Given the description of an element on the screen output the (x, y) to click on. 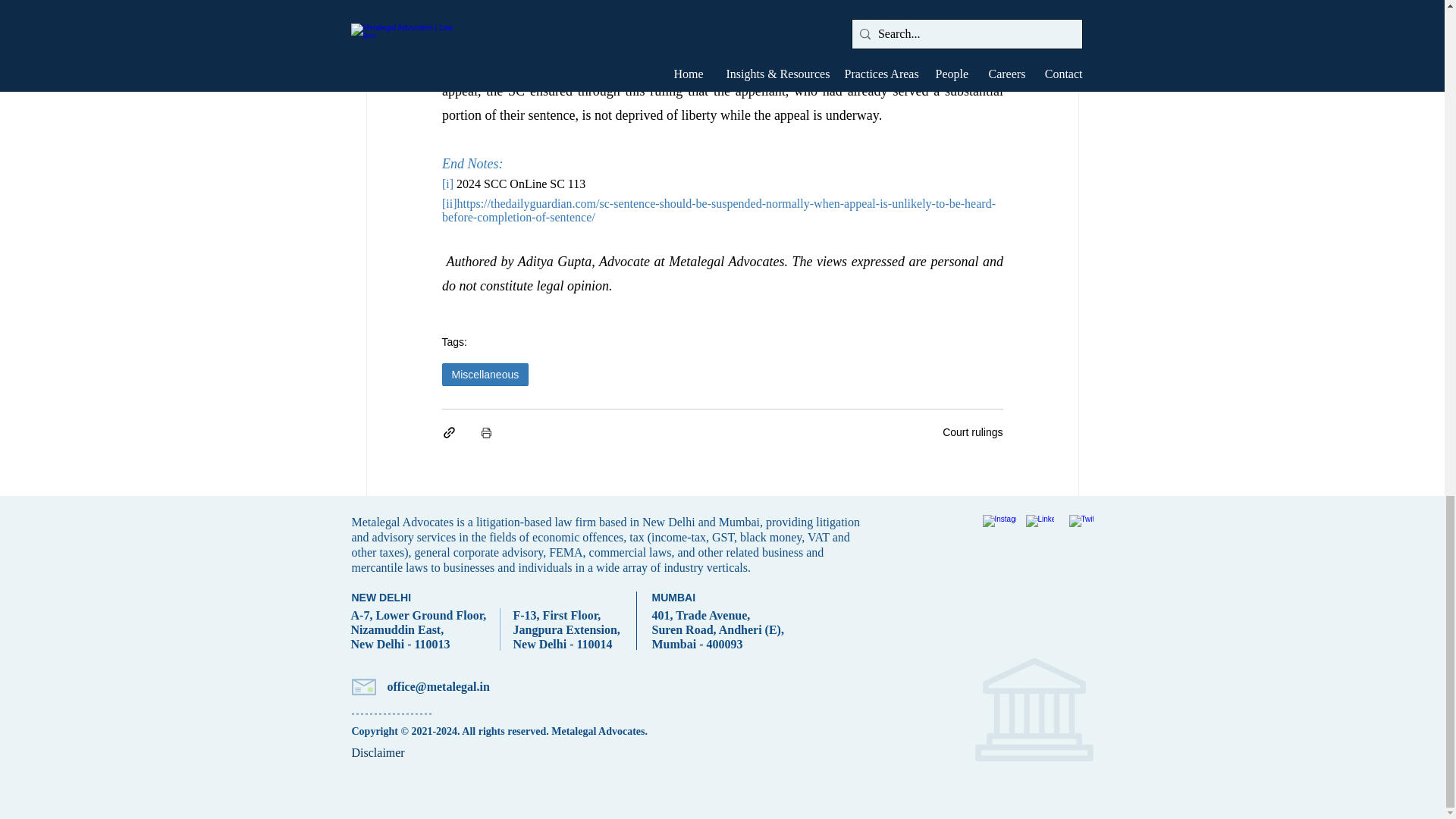
Disclaimer (378, 752)
Court rulings (972, 431)
Miscellaneous (484, 374)
